Given the description of an element on the screen output the (x, y) to click on. 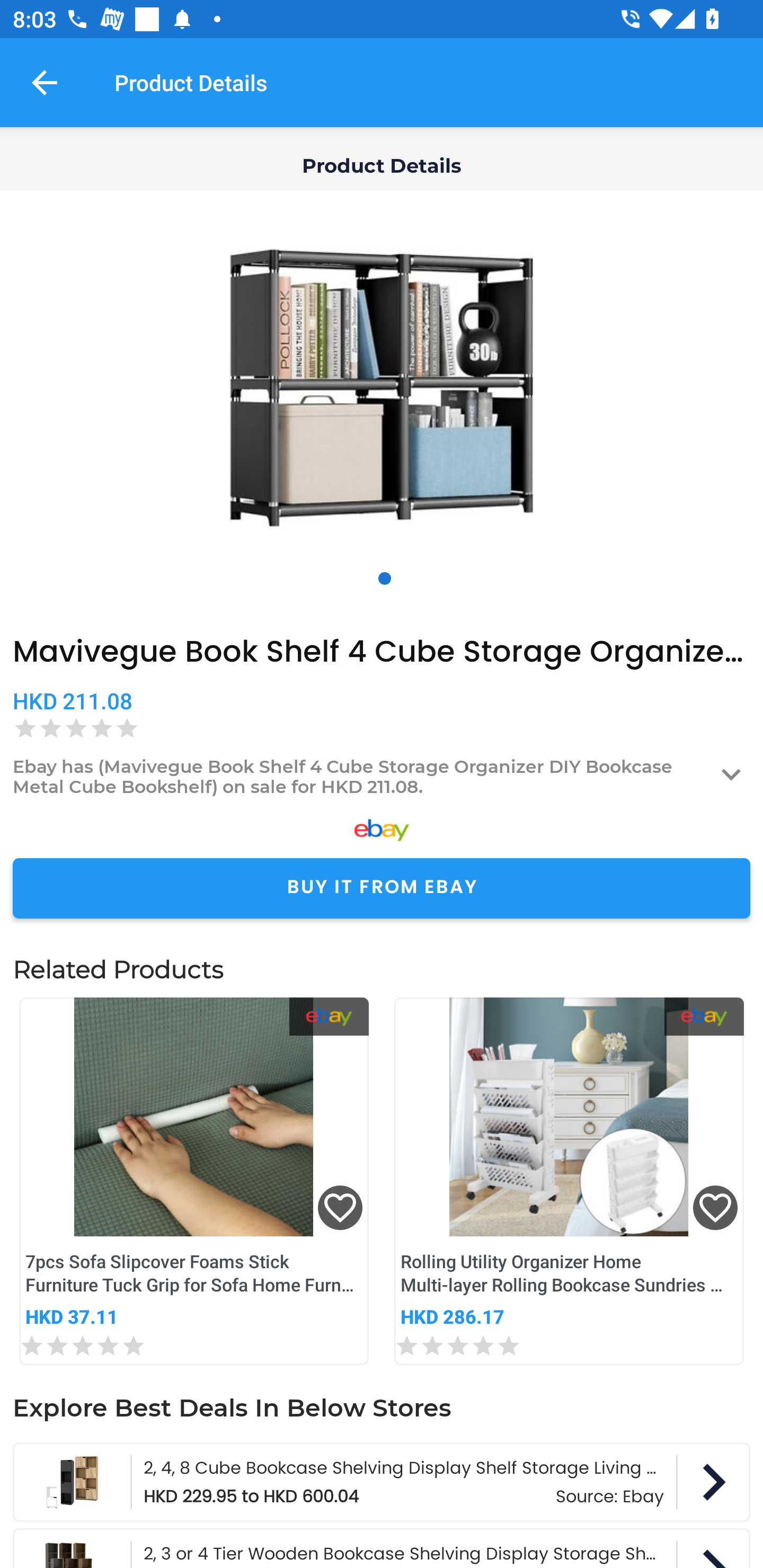
Navigate up (44, 82)
BUY IT FROM EBAY (381, 888)
